Given the description of an element on the screen output the (x, y) to click on. 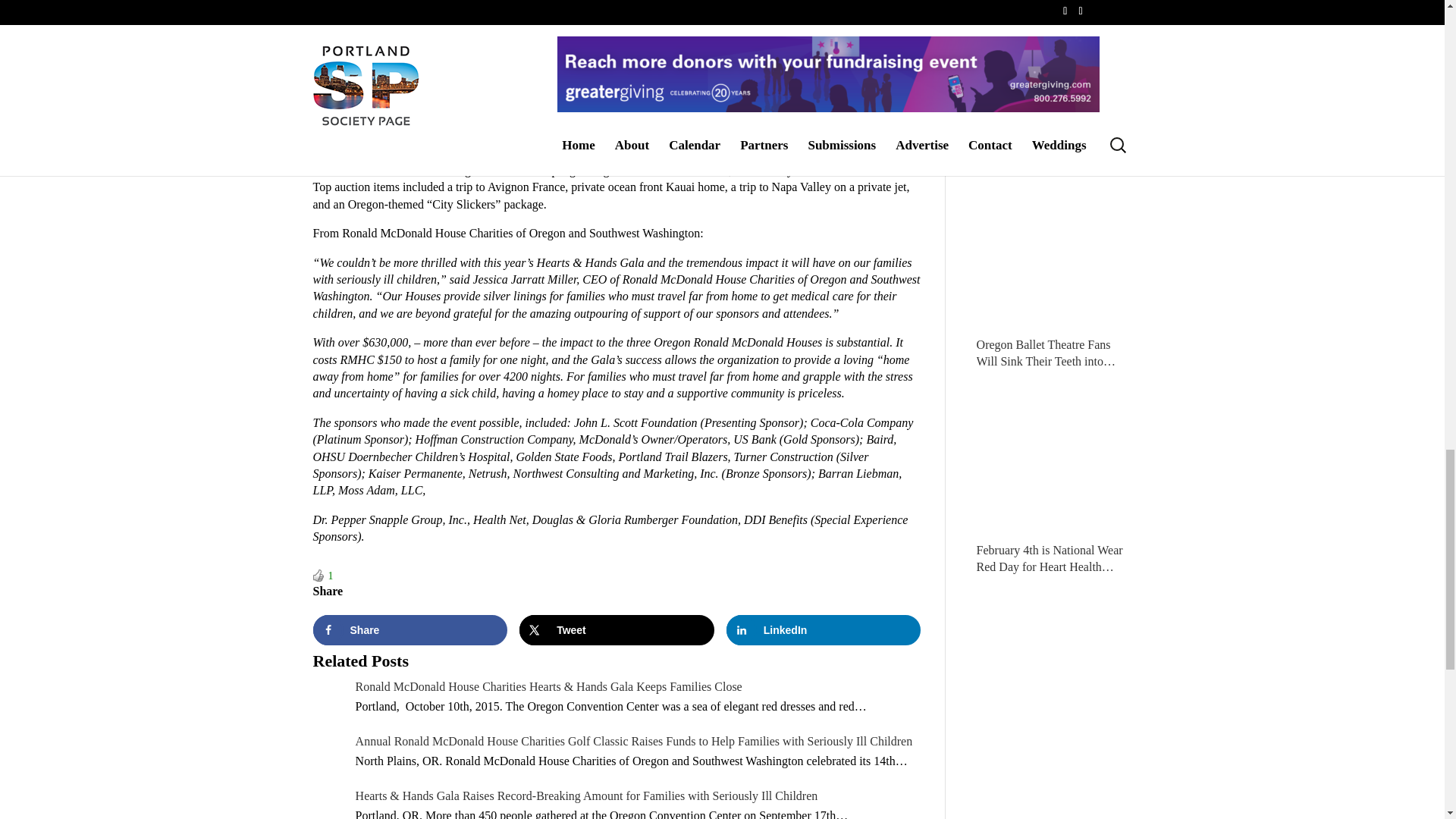
Share on Facebook (409, 630)
LinkedIn (823, 630)
Share (409, 630)
Share on LinkedIn (823, 630)
Share on X (616, 630)
Tweet (616, 630)
